Given the description of an element on the screen output the (x, y) to click on. 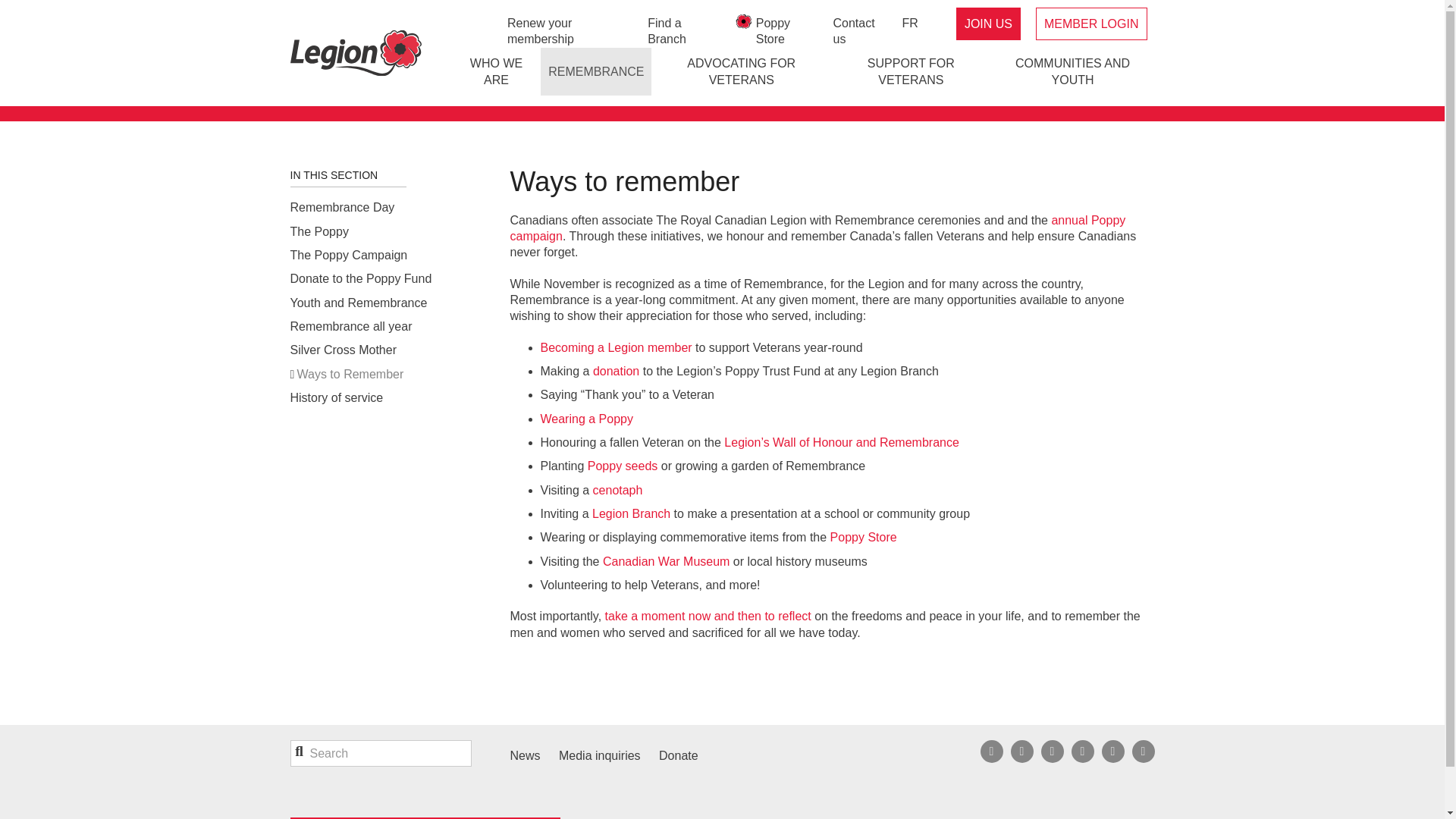
MEMBER LOGIN (1091, 23)
Find a Branch (682, 31)
JOIN US (988, 23)
ADVOCATING FOR VETERANS (740, 71)
REMEMBRANCE (595, 71)
Contact us (859, 31)
Renew your membership (568, 31)
Poppy Store (786, 31)
WHO WE ARE (495, 71)
Royal Canadian Legion (354, 52)
FR (910, 23)
Search input (379, 753)
